Given the description of an element on the screen output the (x, y) to click on. 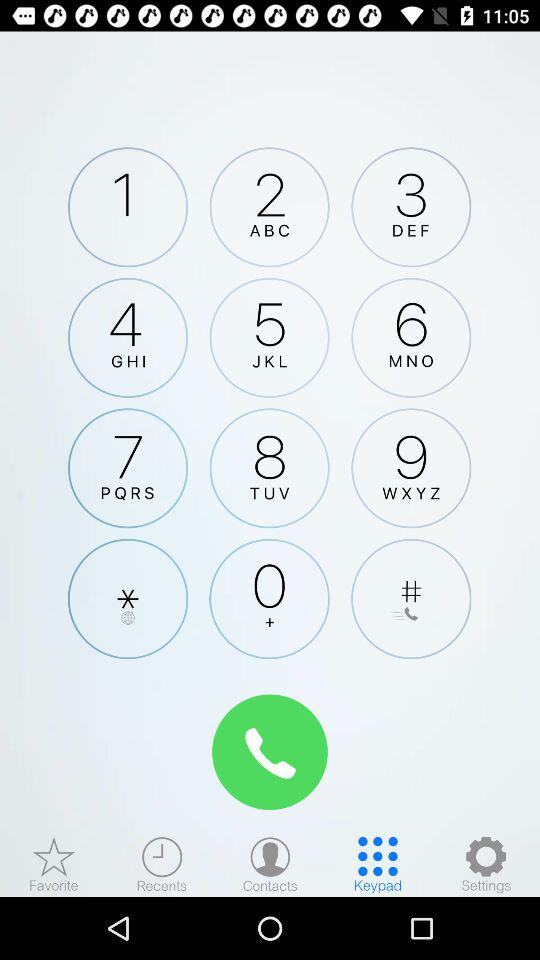
click button 1 (127, 207)
